Given the description of an element on the screen output the (x, y) to click on. 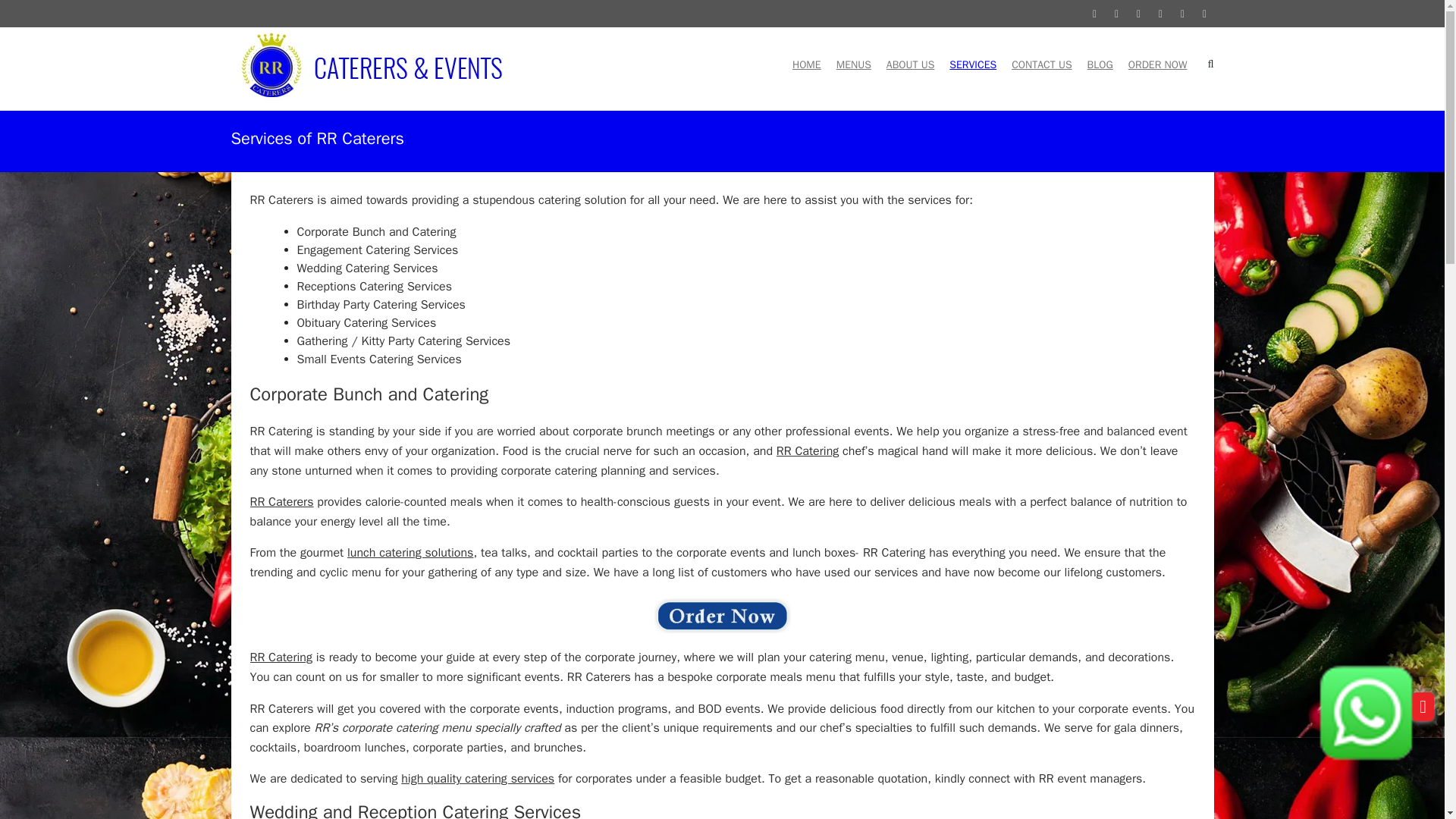
RR Caterers (282, 501)
SERVICES (972, 53)
ABOUT US (910, 53)
high quality catering services (477, 778)
RR Catering (281, 657)
CONTACT US (1041, 53)
ORDER NOW (1158, 53)
RR Catering (807, 450)
lunch catering solutions (410, 552)
